Given the description of an element on the screen output the (x, y) to click on. 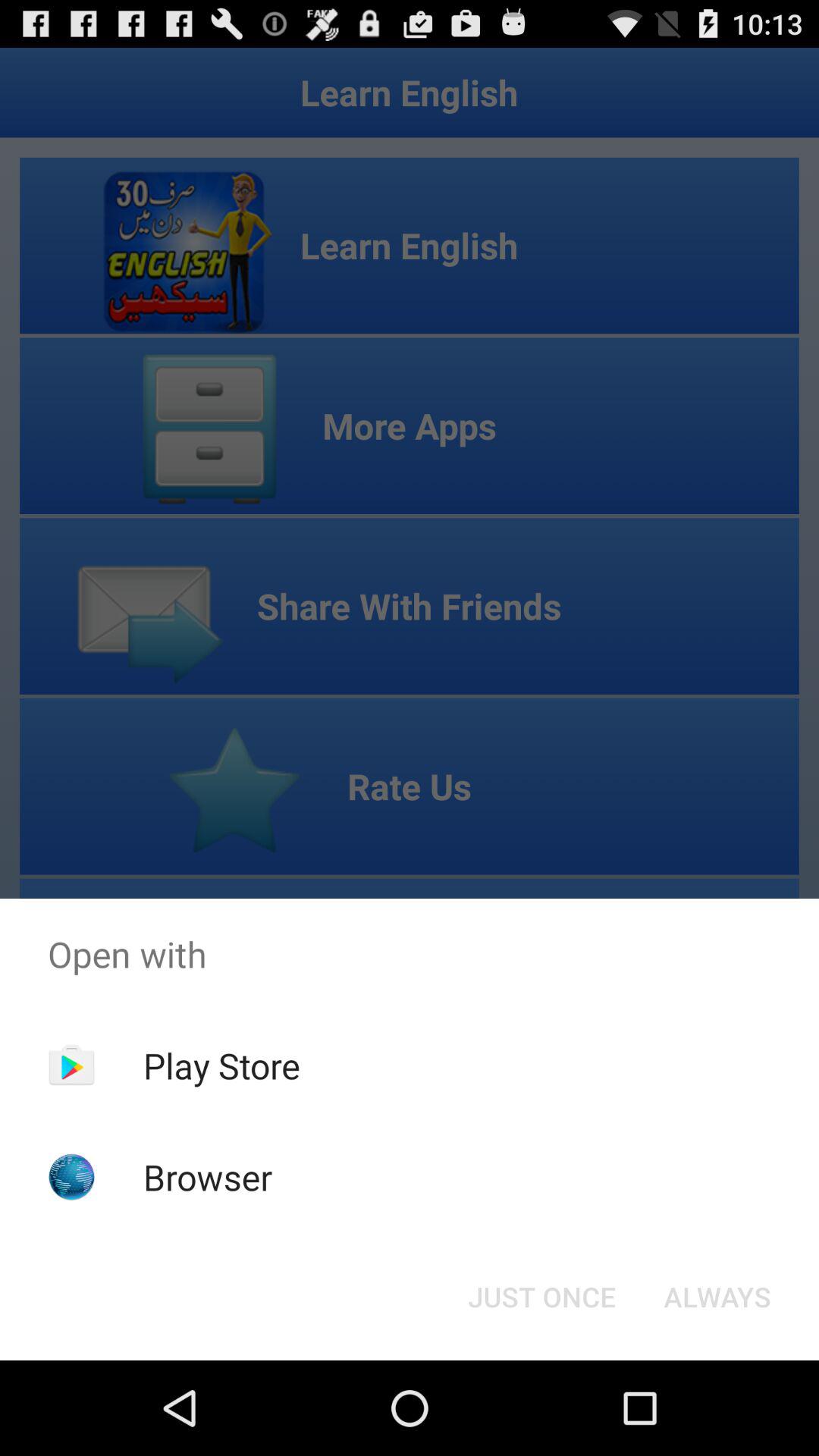
open the play store item (221, 1065)
